Given the description of an element on the screen output the (x, y) to click on. 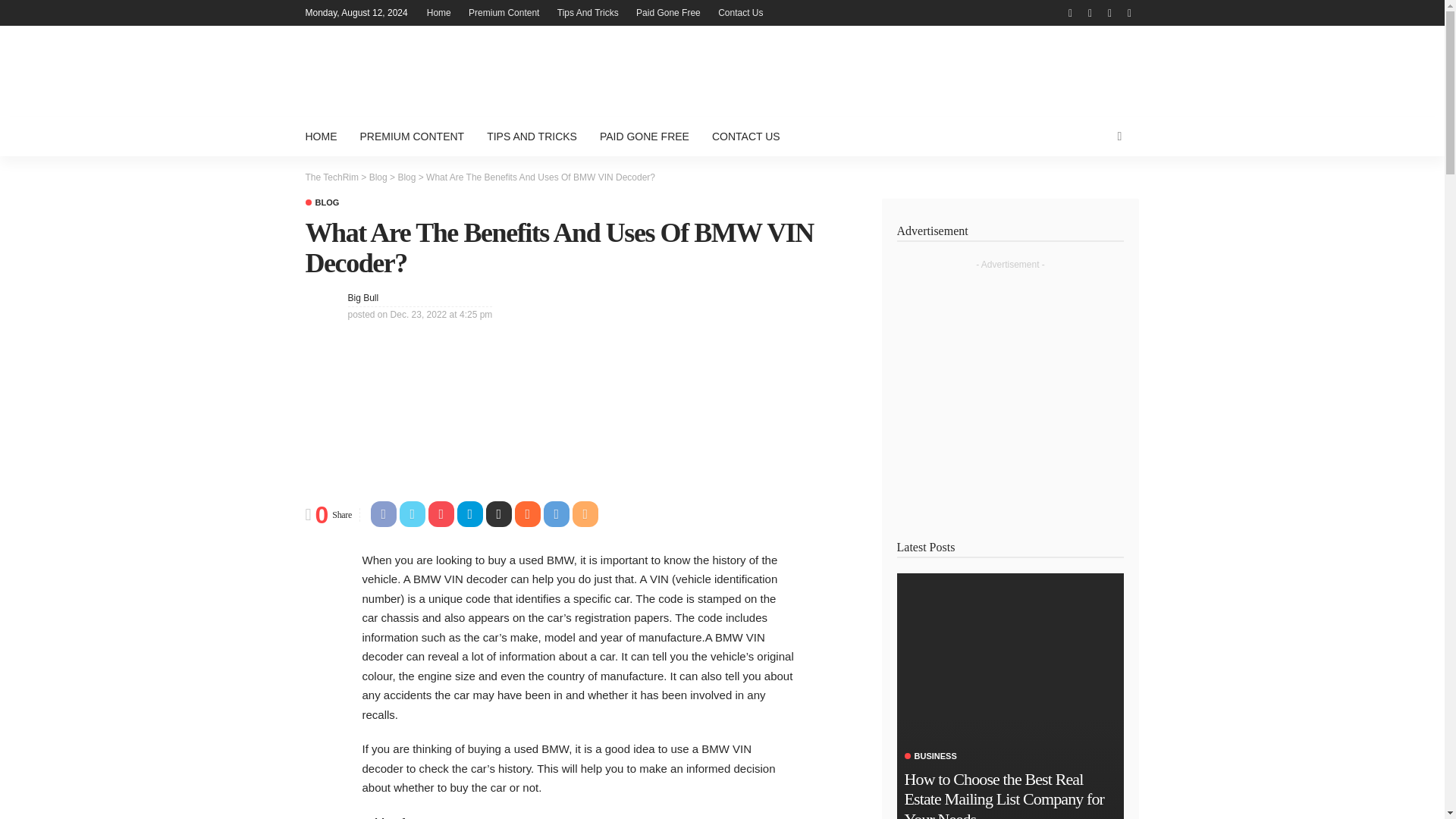
Home (438, 12)
Blog (321, 203)
Go to The TechRim. (331, 176)
search (1118, 136)
Tips And Tricks (588, 12)
Blog (378, 176)
Go to Blog. (378, 176)
PAID GONE FREE (644, 136)
Contact Us (740, 12)
HOME (325, 136)
